Given the description of an element on the screen output the (x, y) to click on. 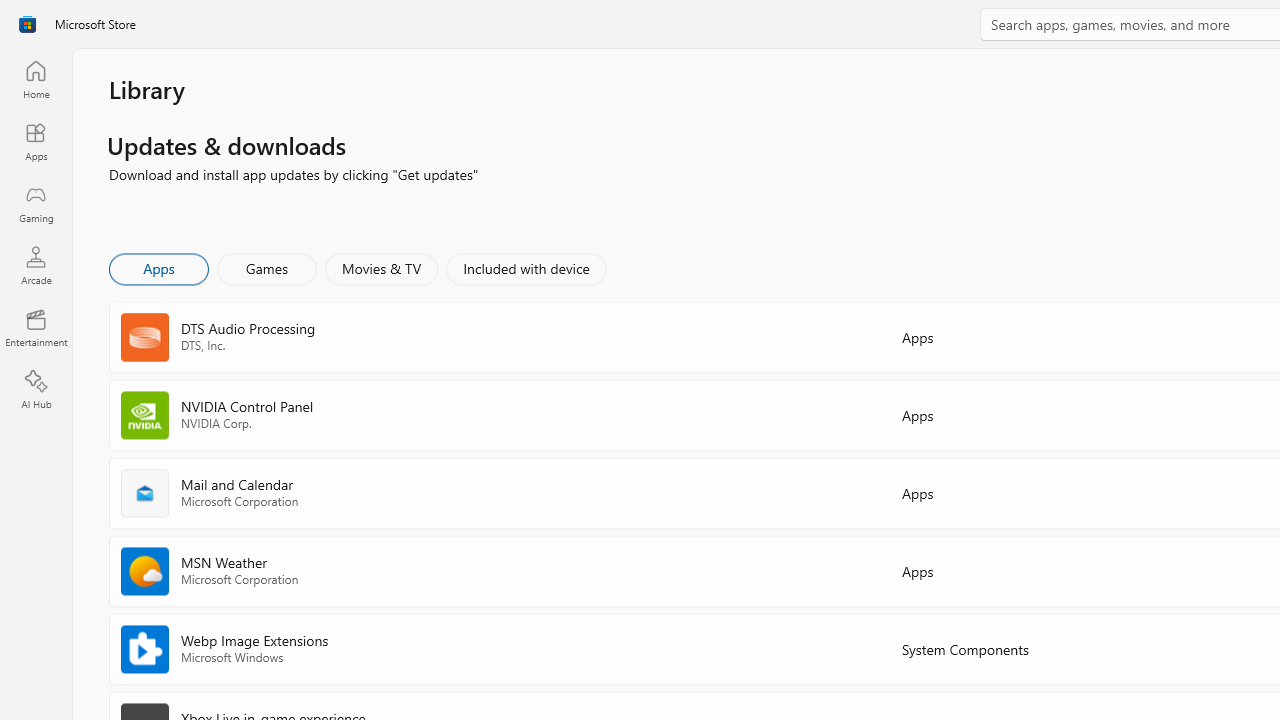
Movies & TV (381, 268)
Included with device (525, 268)
Games (267, 268)
